Given the description of an element on the screen output the (x, y) to click on. 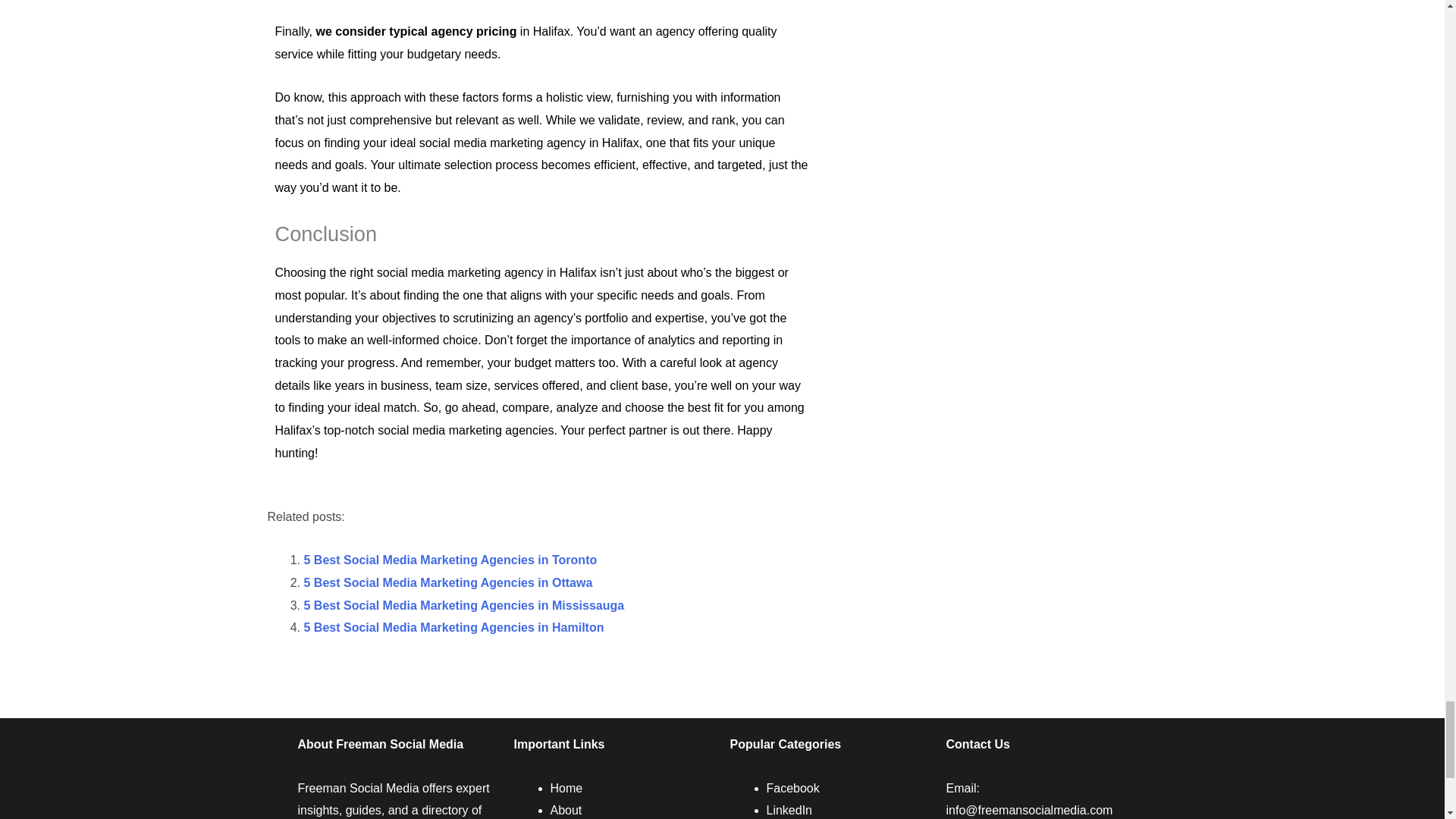
5 Best Social Media Marketing Agencies in Mississauga (463, 604)
5 Best Social Media Marketing Agencies in Ottawa (447, 582)
5 Best Social Media Marketing Agencies in Hamilton (453, 626)
5 Best Social Media Marketing Agencies in Toronto (449, 559)
